Given the description of an element on the screen output the (x, y) to click on. 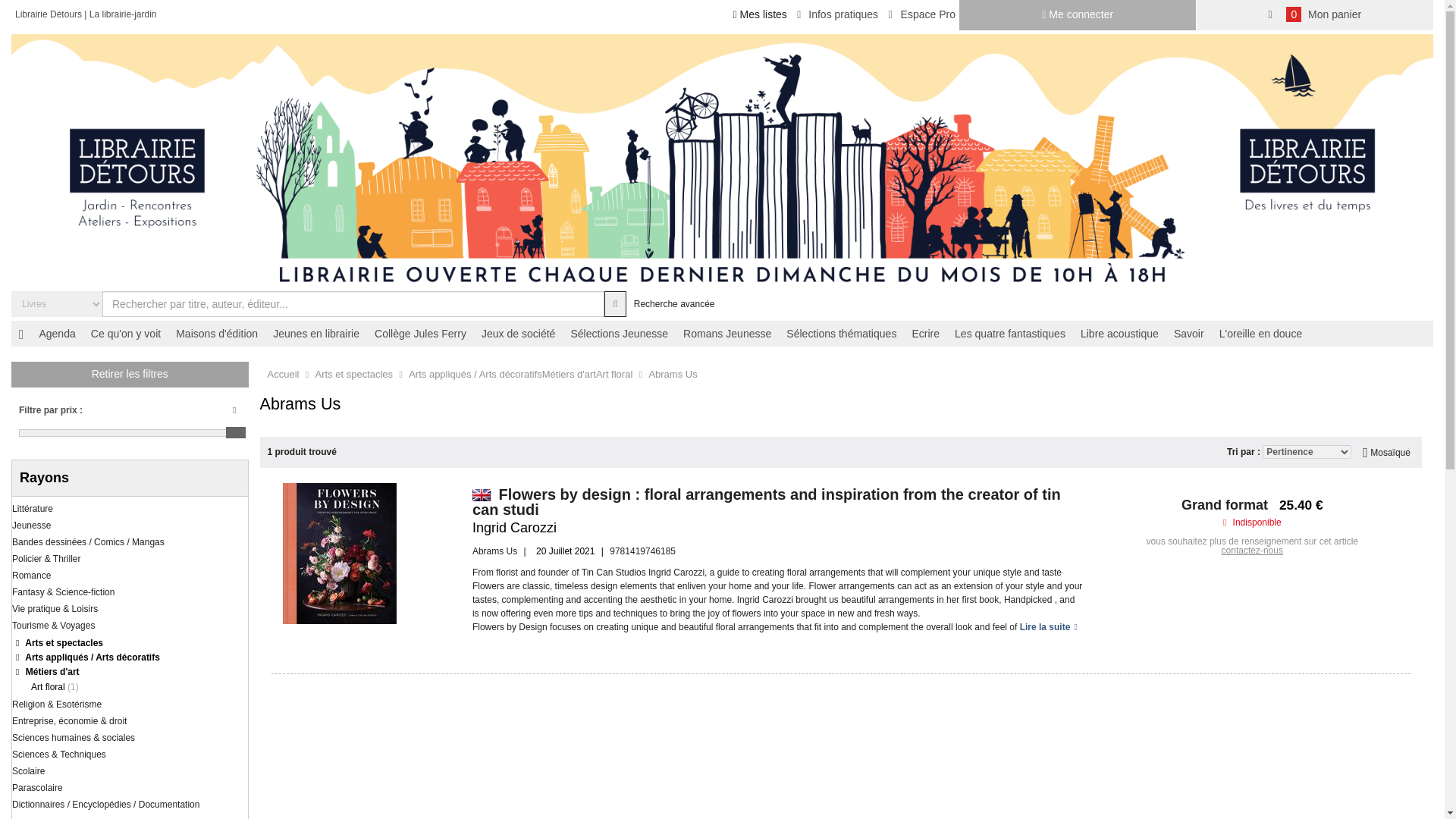
Anglais (480, 494)
Agenda (56, 333)
L'oreille en douce (1260, 333)
0 Mon panier (1315, 15)
Ecrire (925, 333)
Grille (1385, 452)
Libre acoustique (1119, 333)
Ce qu'on y voit (125, 333)
Ingrid Carozzi (513, 527)
Romans Jeunesse (726, 333)
Trier par (1306, 451)
Les quatre fantastiques (1010, 333)
Infos pratiques (837, 14)
Jeunes en librairie (315, 333)
Savoir (1188, 333)
